Given the description of an element on the screen output the (x, y) to click on. 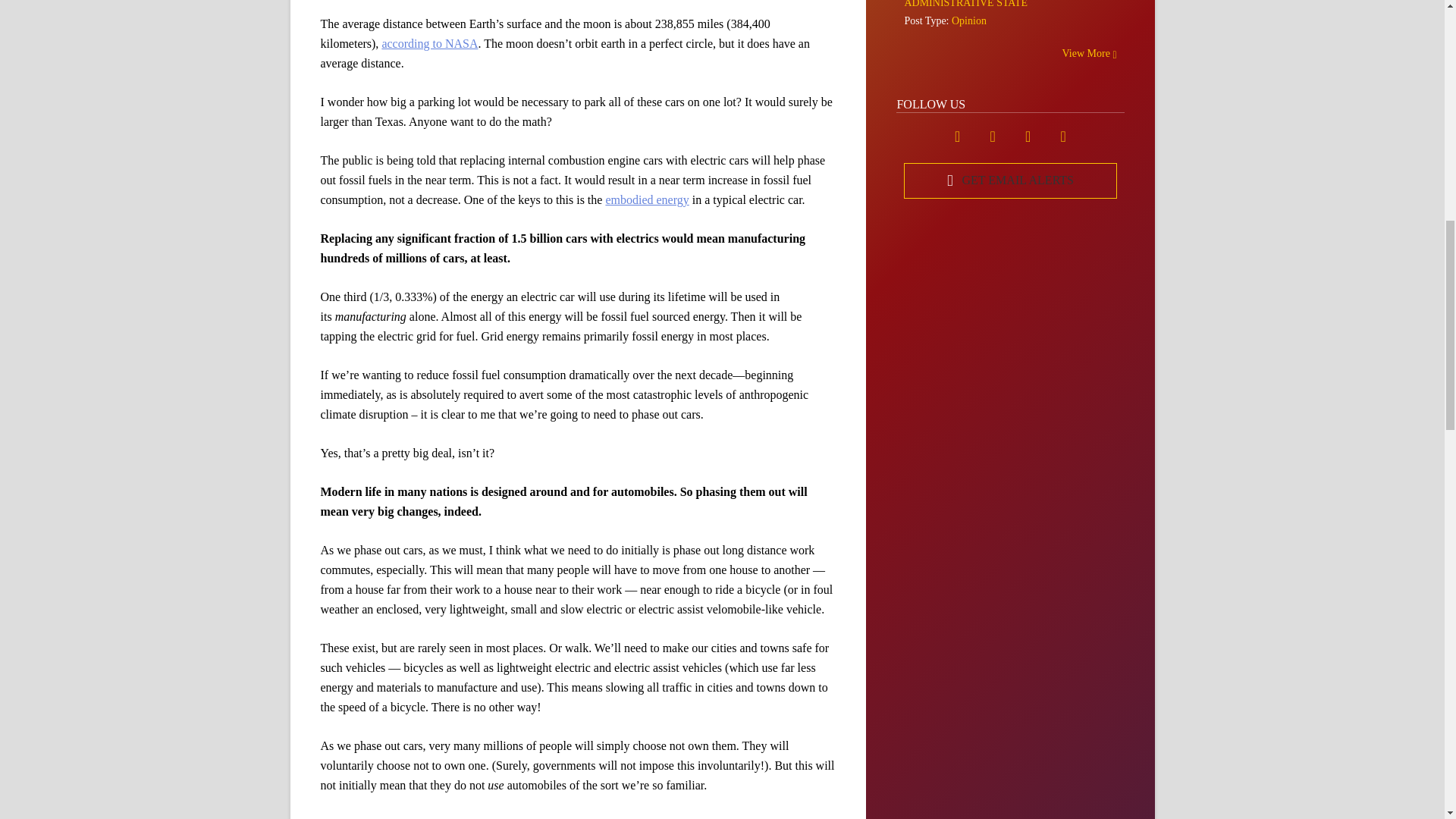
embodied energy (646, 199)
according to NASA (429, 42)
The Supreme Court takes on the administrative state (997, 4)
